Given the description of an element on the screen output the (x, y) to click on. 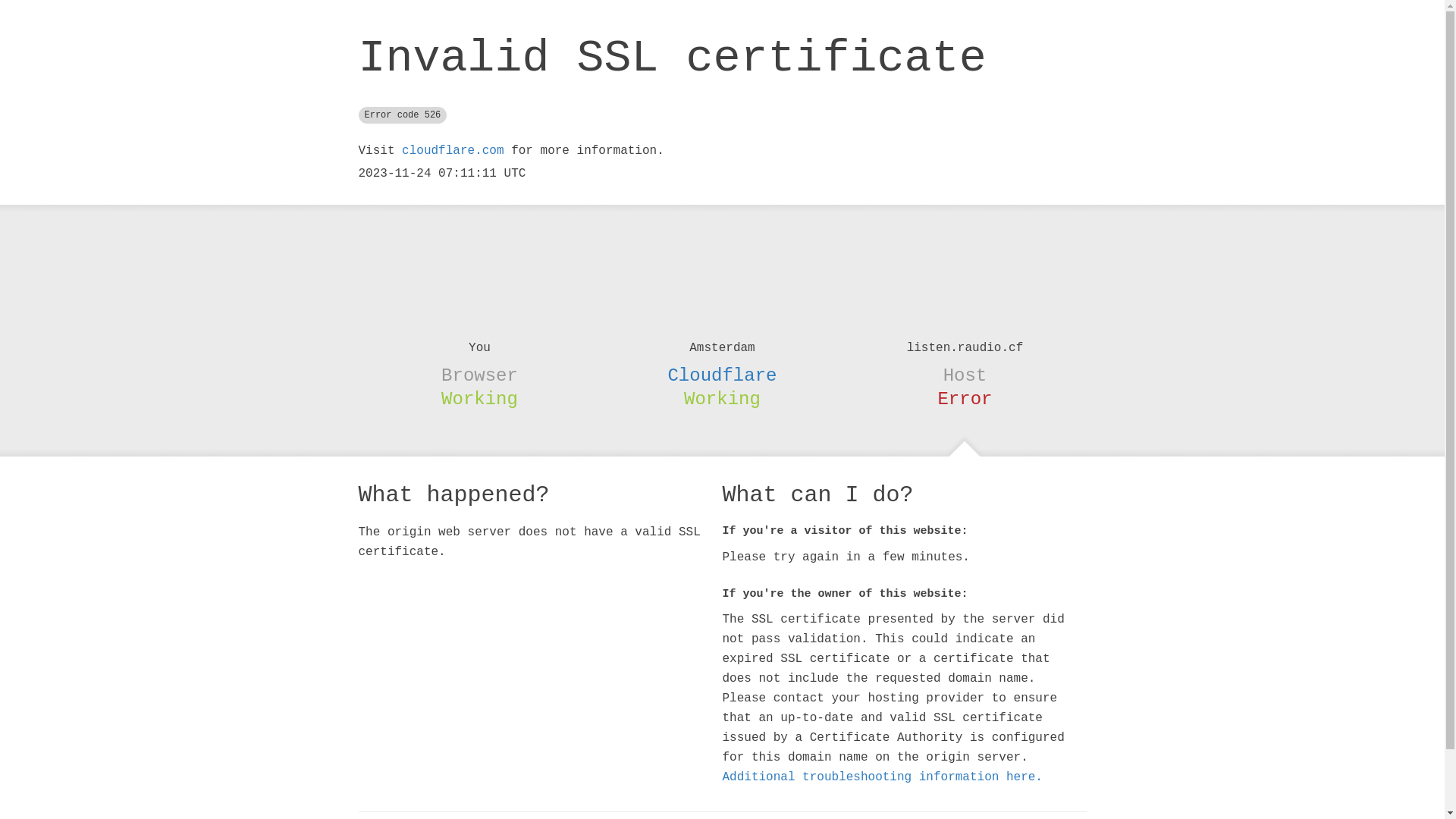
Additional troubleshooting information here. Element type: text (881, 777)
Cloudflare Element type: text (721, 375)
cloudflare.com Element type: text (452, 150)
